Given the description of an element on the screen output the (x, y) to click on. 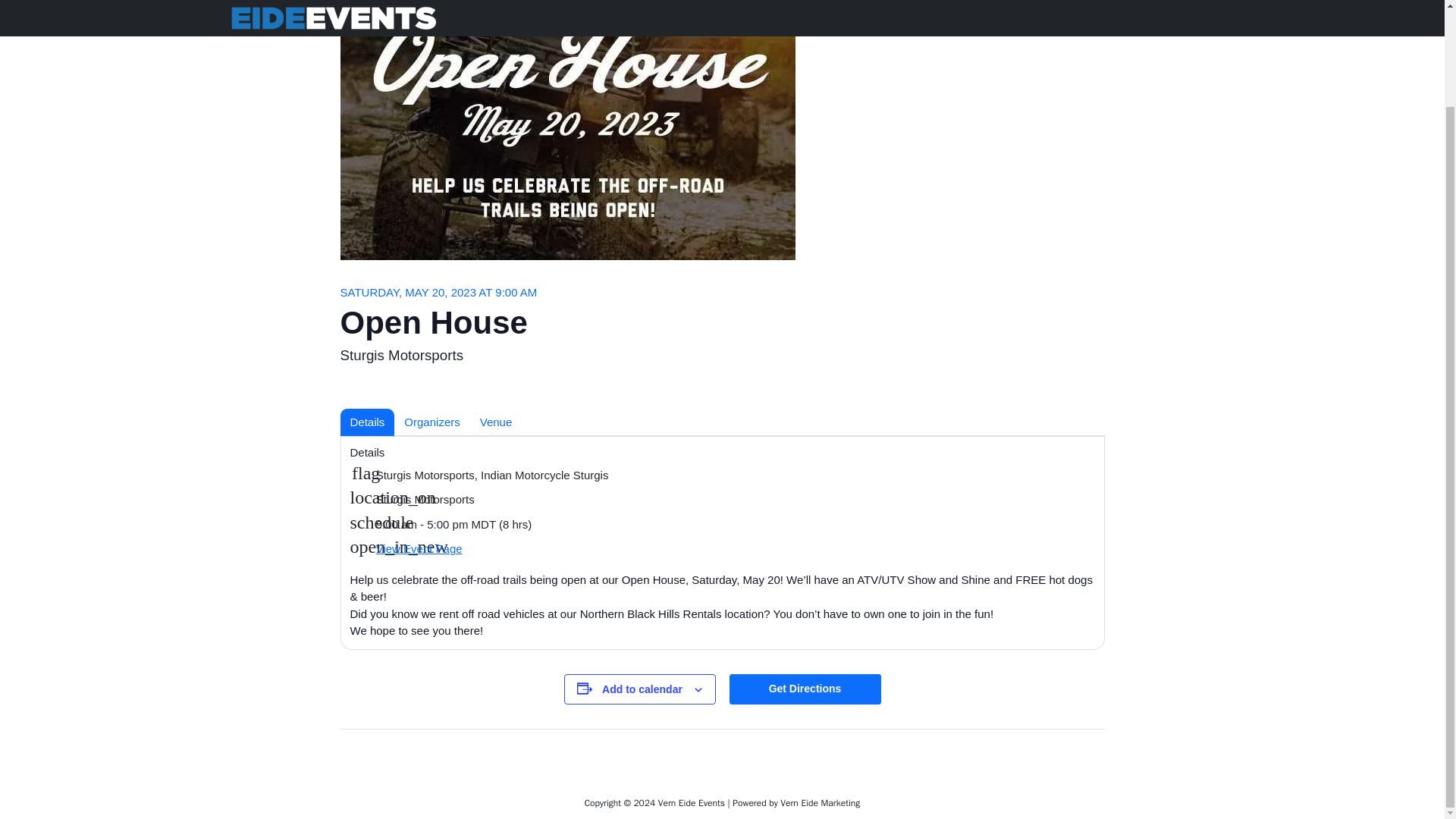
Add to calendar (642, 689)
Details (366, 422)
Organizers (431, 422)
Get Directions (804, 689)
View Event Page (419, 548)
Venue (496, 422)
